Given the description of an element on the screen output the (x, y) to click on. 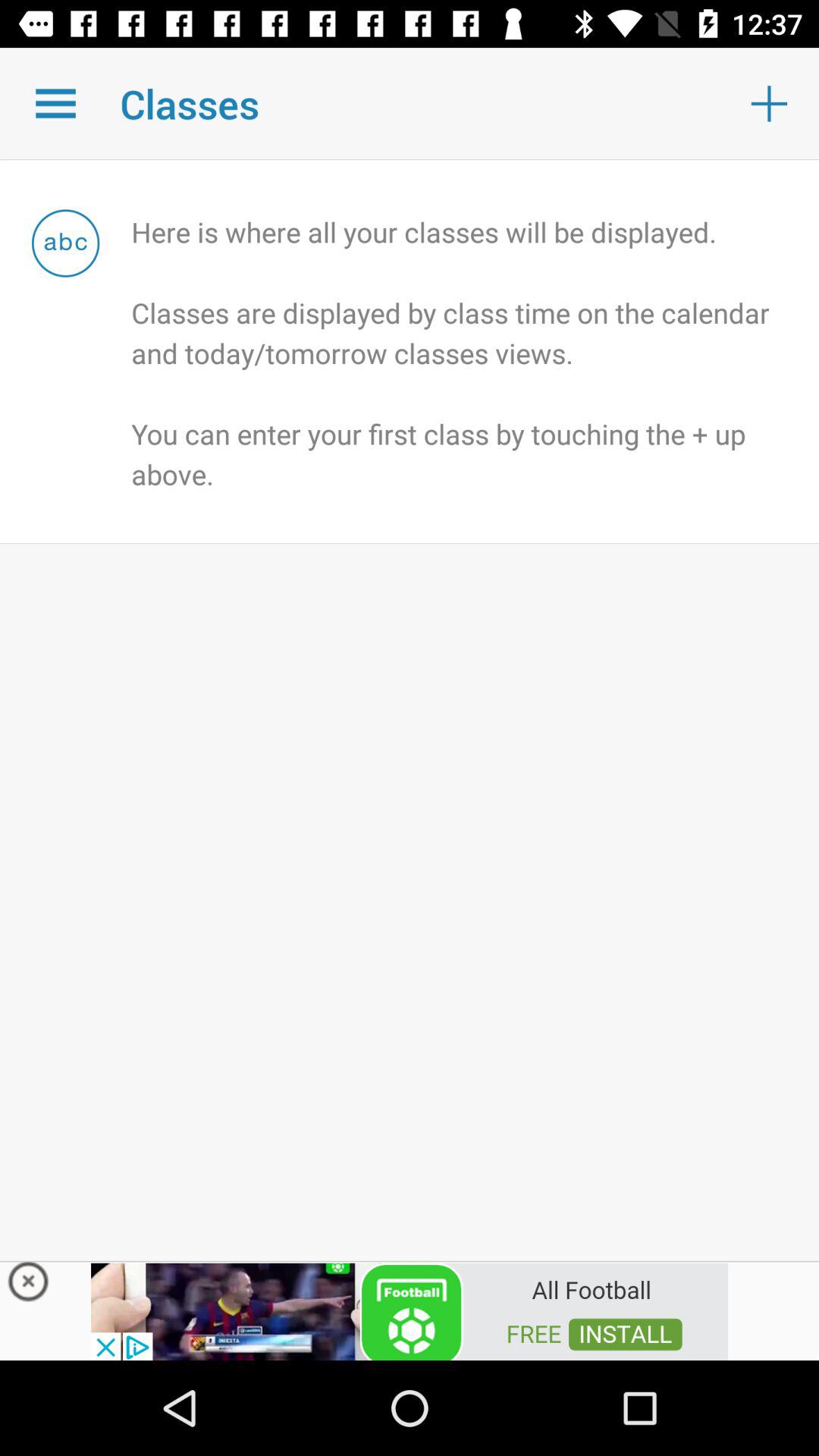
multiple classes option (55, 103)
